Given the description of an element on the screen output the (x, y) to click on. 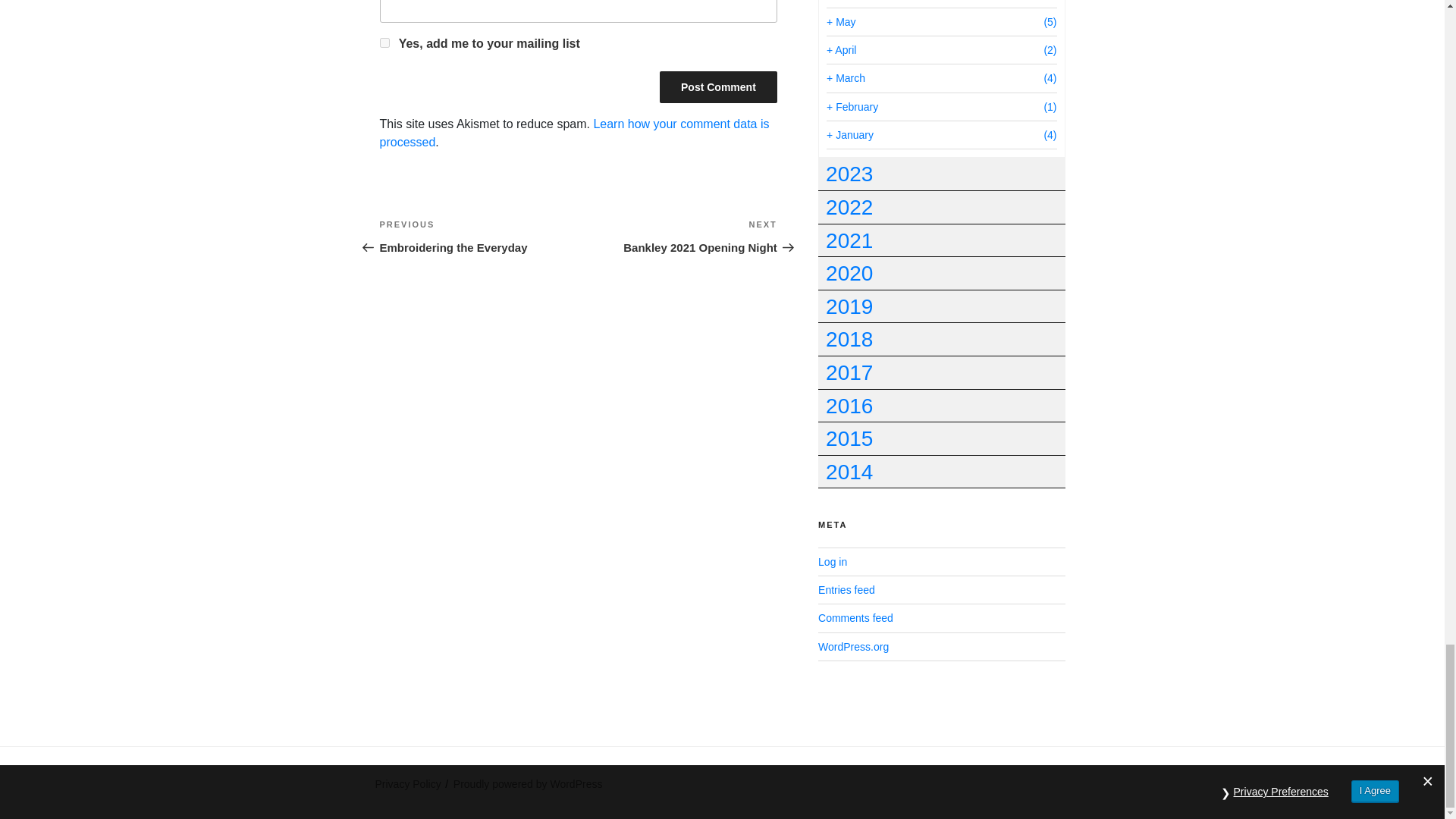
1 (677, 236)
Post Comment (383, 42)
Post Comment (718, 87)
Learn how your comment data is processed (478, 236)
